Given the description of an element on the screen output the (x, y) to click on. 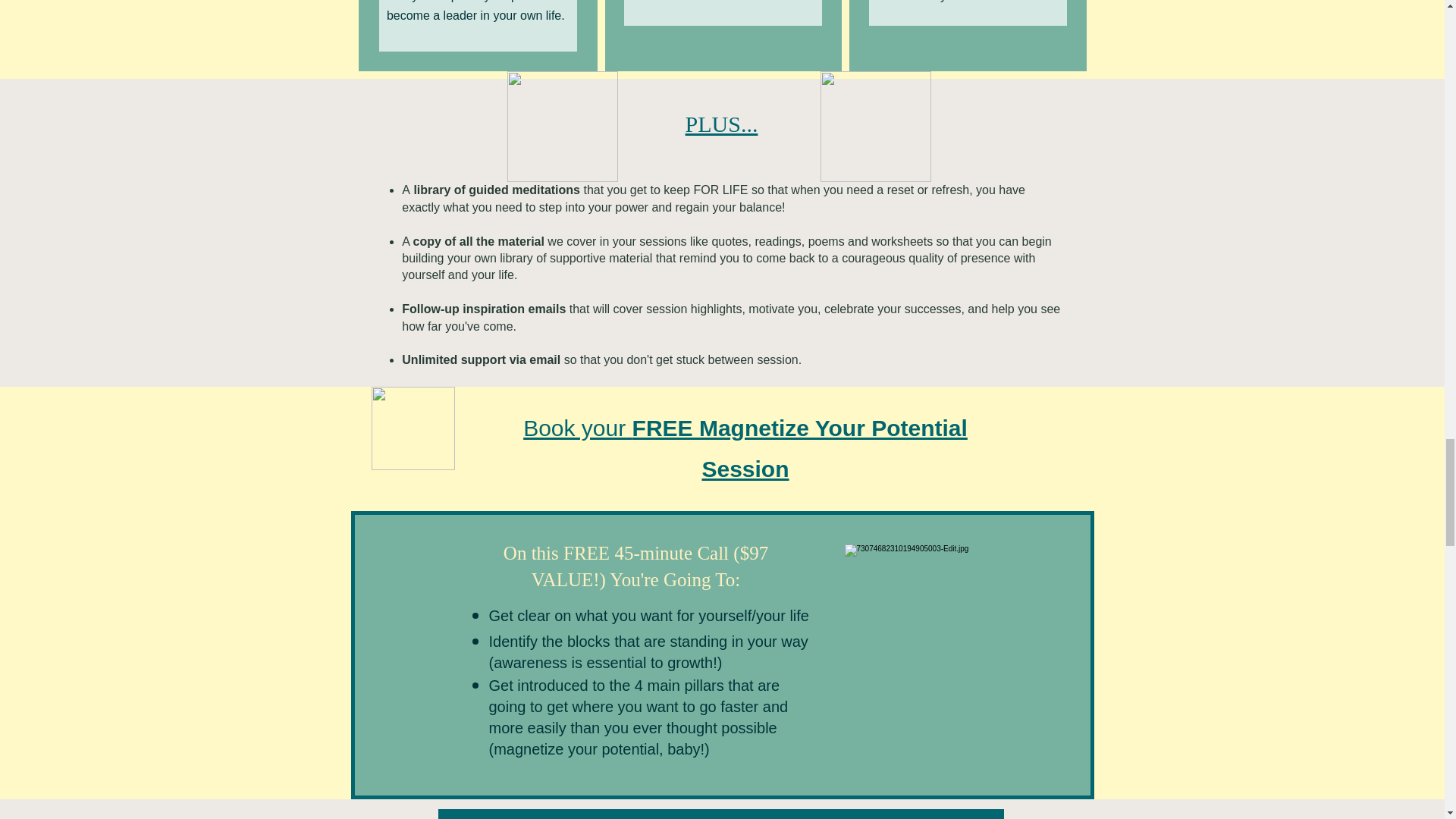
Floral- website.png (412, 428)
